Given the description of an element on the screen output the (x, y) to click on. 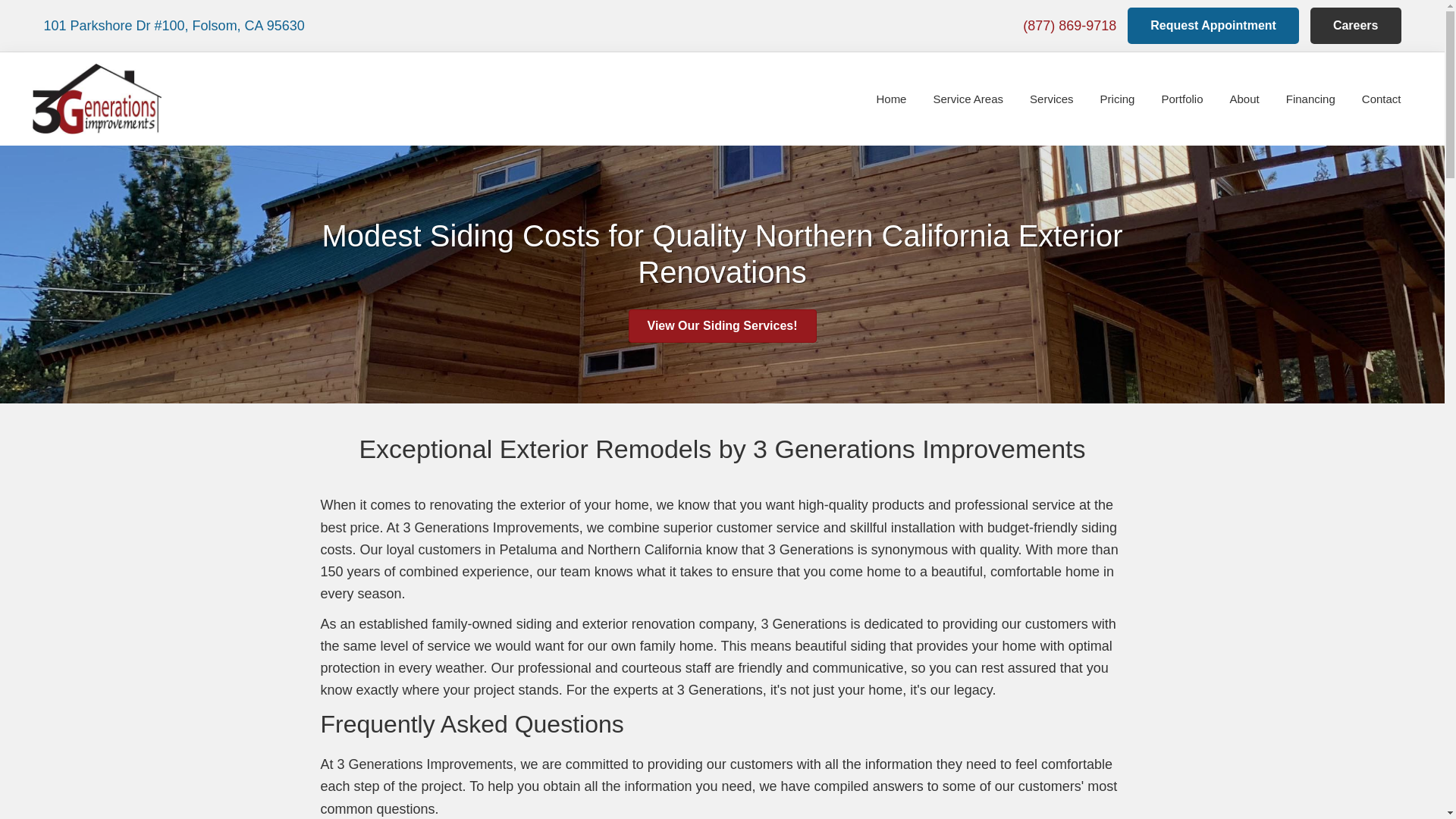
Services Element type: text (1051, 98)
Financing Element type: text (1310, 98)
Skip to primary navigation Element type: text (0, 0)
Careers Element type: text (1355, 25)
Service Areas Element type: text (967, 98)
101 Parkshore Dr #100, Folsom, CA 95630 Element type: text (173, 25)
Contact Element type: text (1381, 98)
Request Appointment Element type: text (1213, 25)
Pricing Element type: text (1117, 98)
About Element type: text (1244, 98)
Portfolio Element type: text (1181, 98)
View Our Siding Services! Element type: text (721, 325)
(877) 869-9718 Element type: text (1069, 25)
Home Element type: text (890, 98)
